Given the description of an element on the screen output the (x, y) to click on. 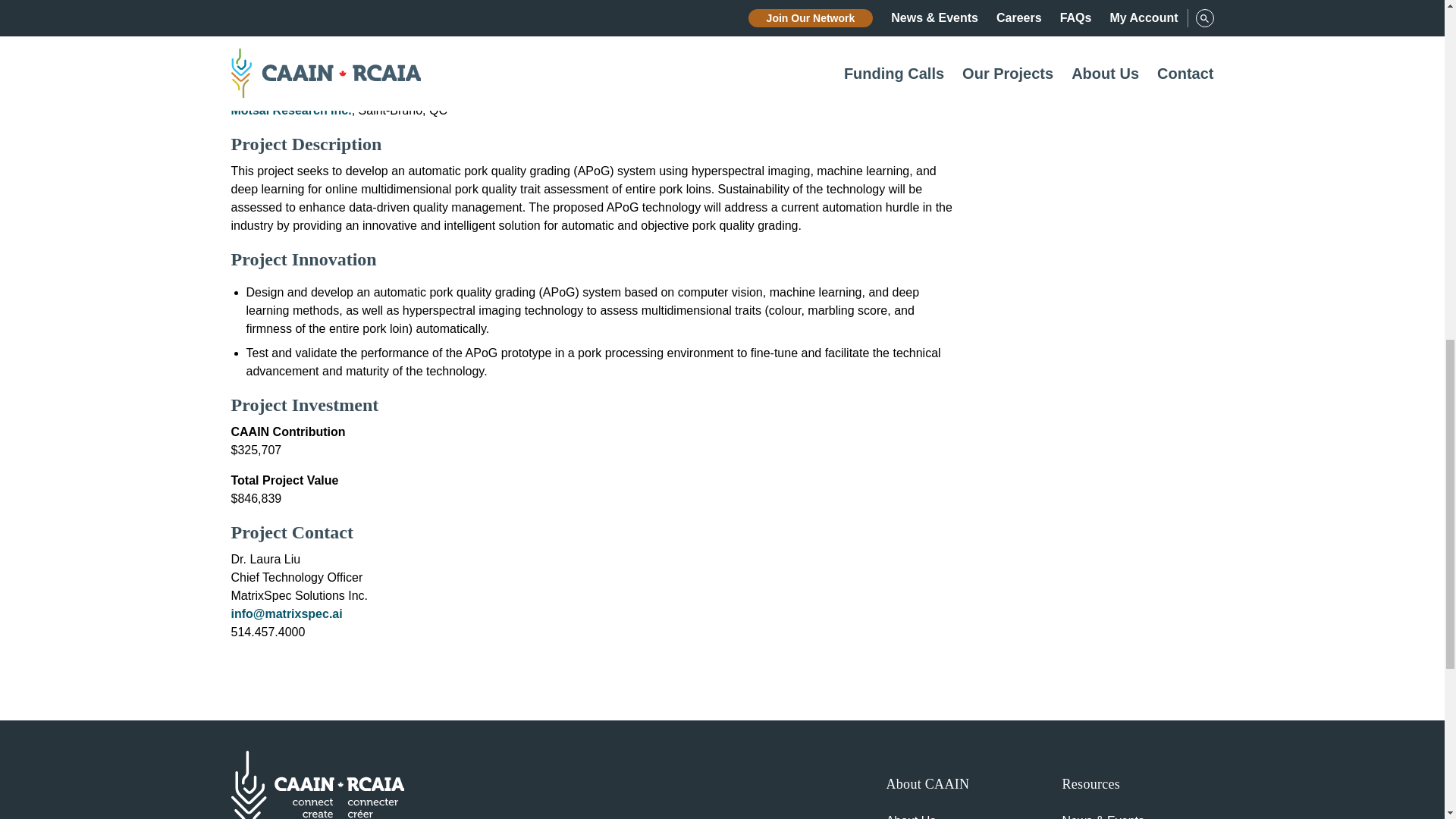
MatrixSpec Solutions Inc. (304, 19)
Motsai Research Inc. (290, 110)
Canadian Centre for Swine Improvement (347, 79)
About Us (910, 816)
